Given the description of an element on the screen output the (x, y) to click on. 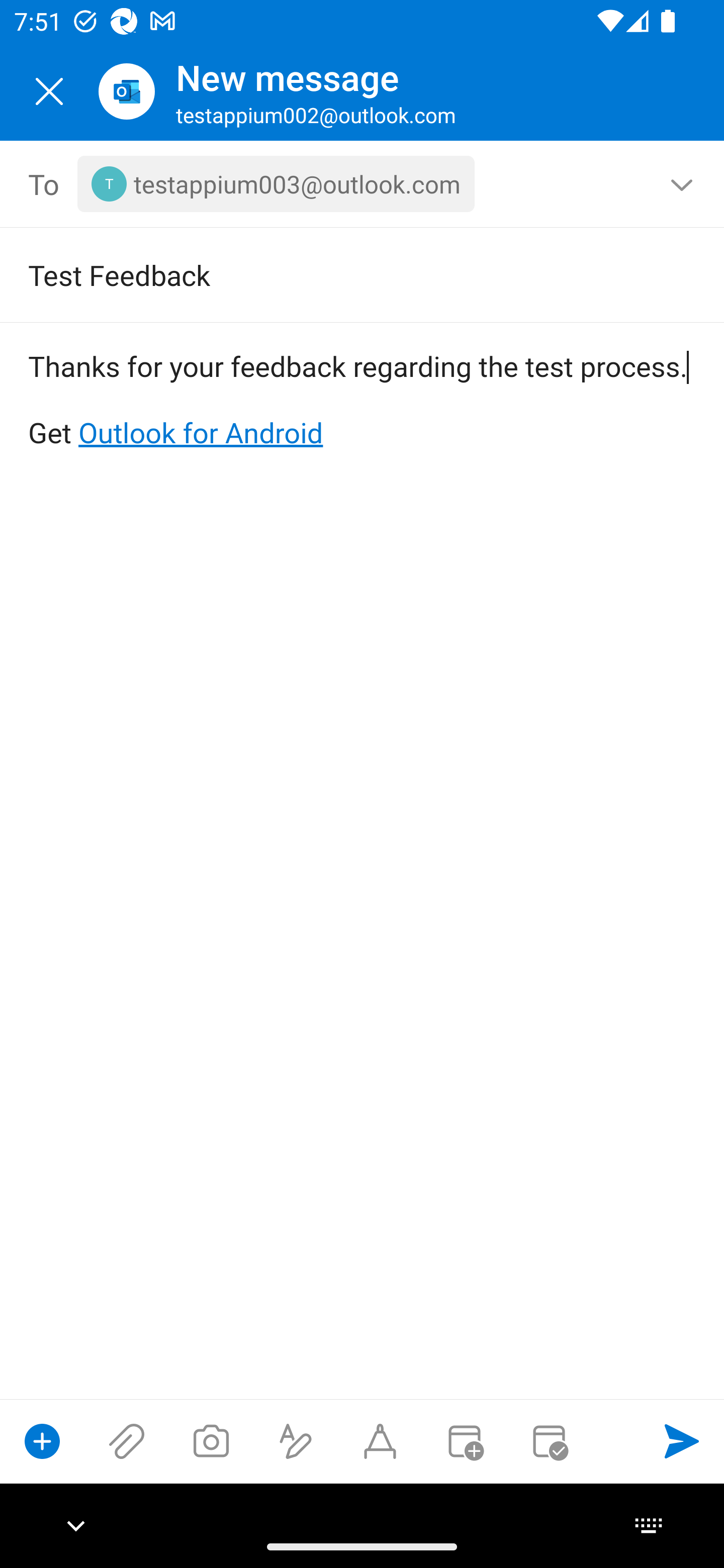
Close (49, 91)
To, 1 recipient <testappium003@outlook.com> (362, 184)
Test Feedback (333, 274)
Show compose options (42, 1440)
Attach files (126, 1440)
Take a photo (210, 1440)
Show formatting options (295, 1440)
Start Ink compose (380, 1440)
Convert to event (464, 1440)
Send availability (548, 1440)
Send (681, 1440)
